Given the description of an element on the screen output the (x, y) to click on. 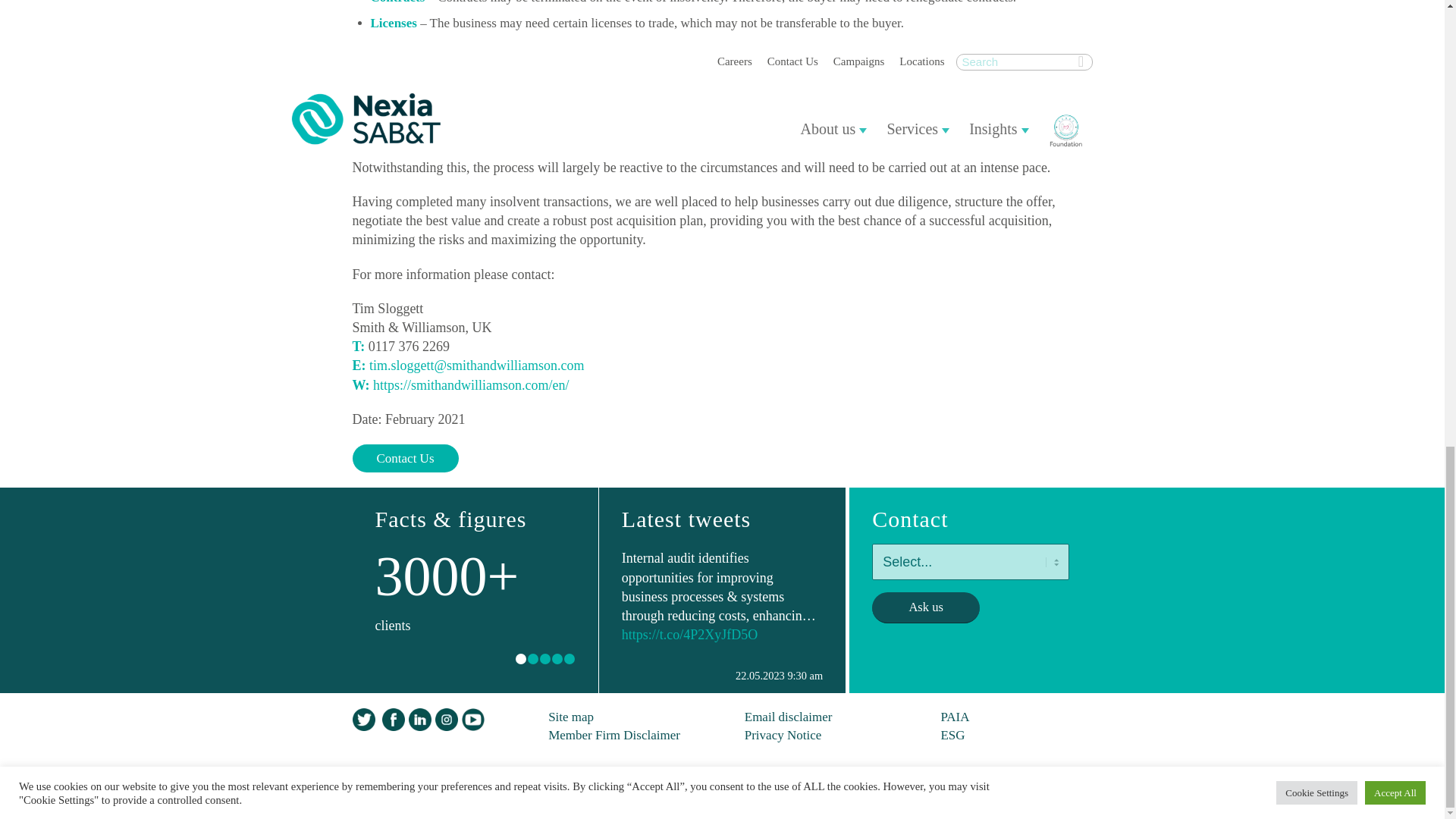
Ask us (925, 607)
